Given the description of an element on the screen output the (x, y) to click on. 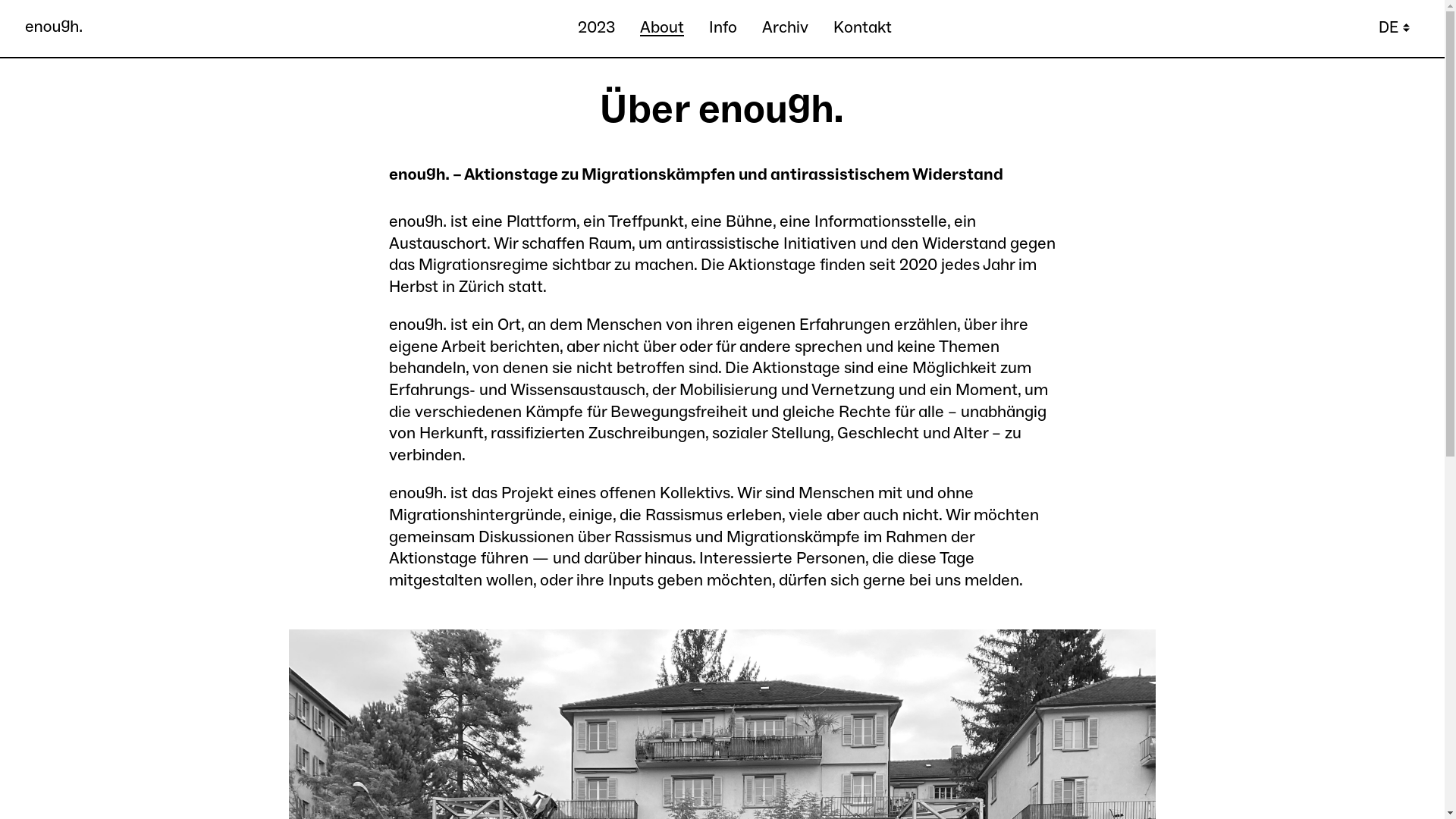
Info Element type: text (723, 28)
Archiv Element type: text (785, 28)
About Element type: text (662, 28)
Kontakt Element type: text (862, 28)
2023 Element type: text (596, 28)
enough. Element type: text (53, 27)
